Given the description of an element on the screen output the (x, y) to click on. 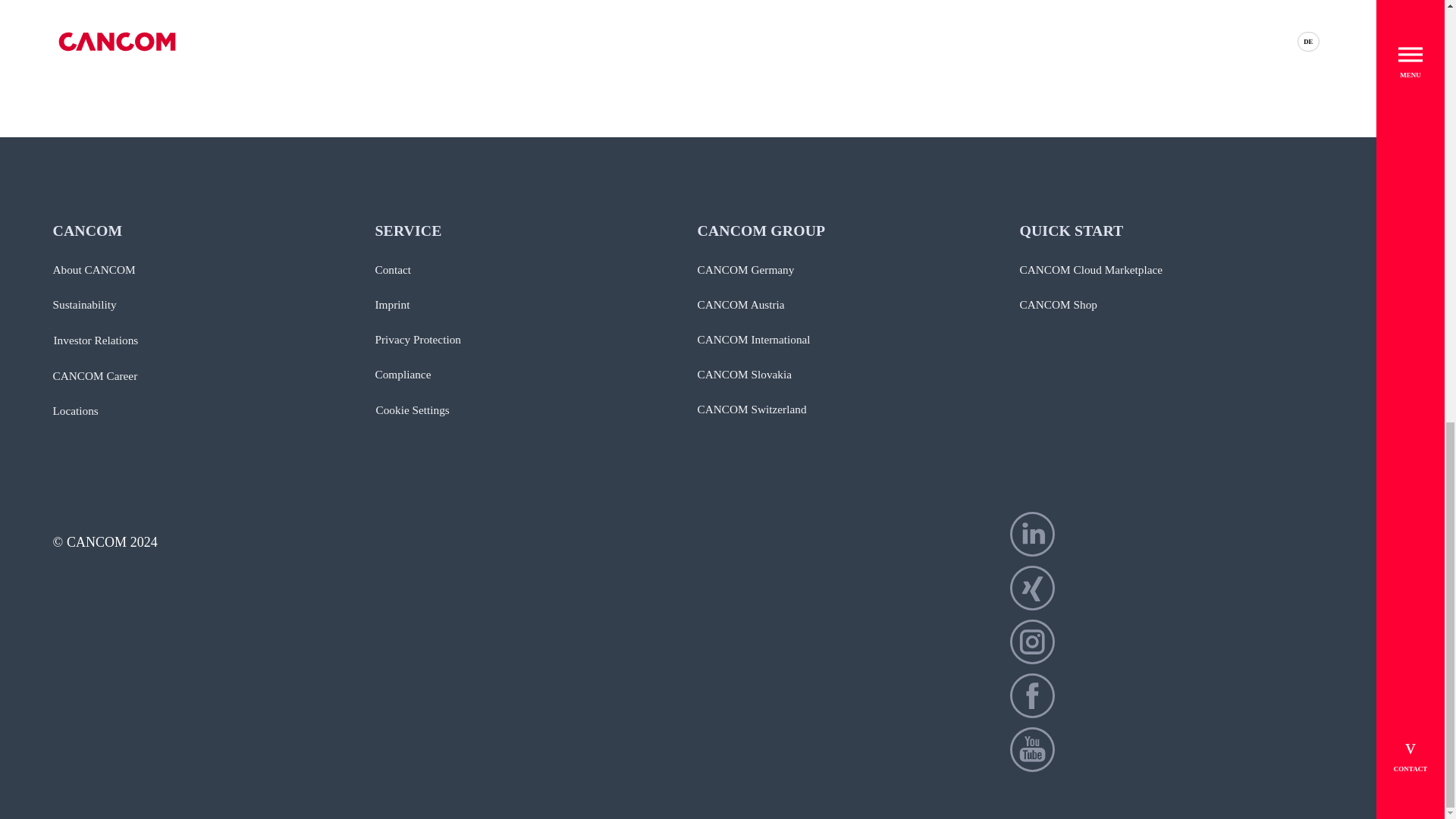
CANCOM Germany (745, 270)
CANCOM International (753, 339)
Privacy Protection (417, 339)
CANCOM Cloud Marketplace (1090, 270)
Cookie Settings (411, 409)
Compliance (402, 374)
CANCOM Switzerland (751, 409)
CANCOM Austria (740, 304)
Contact (392, 270)
CANCOM Shop (1057, 304)
CANCOM Career (95, 375)
Investor Relations (95, 340)
Sustainability (84, 304)
Imprint (391, 304)
Locations (75, 410)
